Given the description of an element on the screen output the (x, y) to click on. 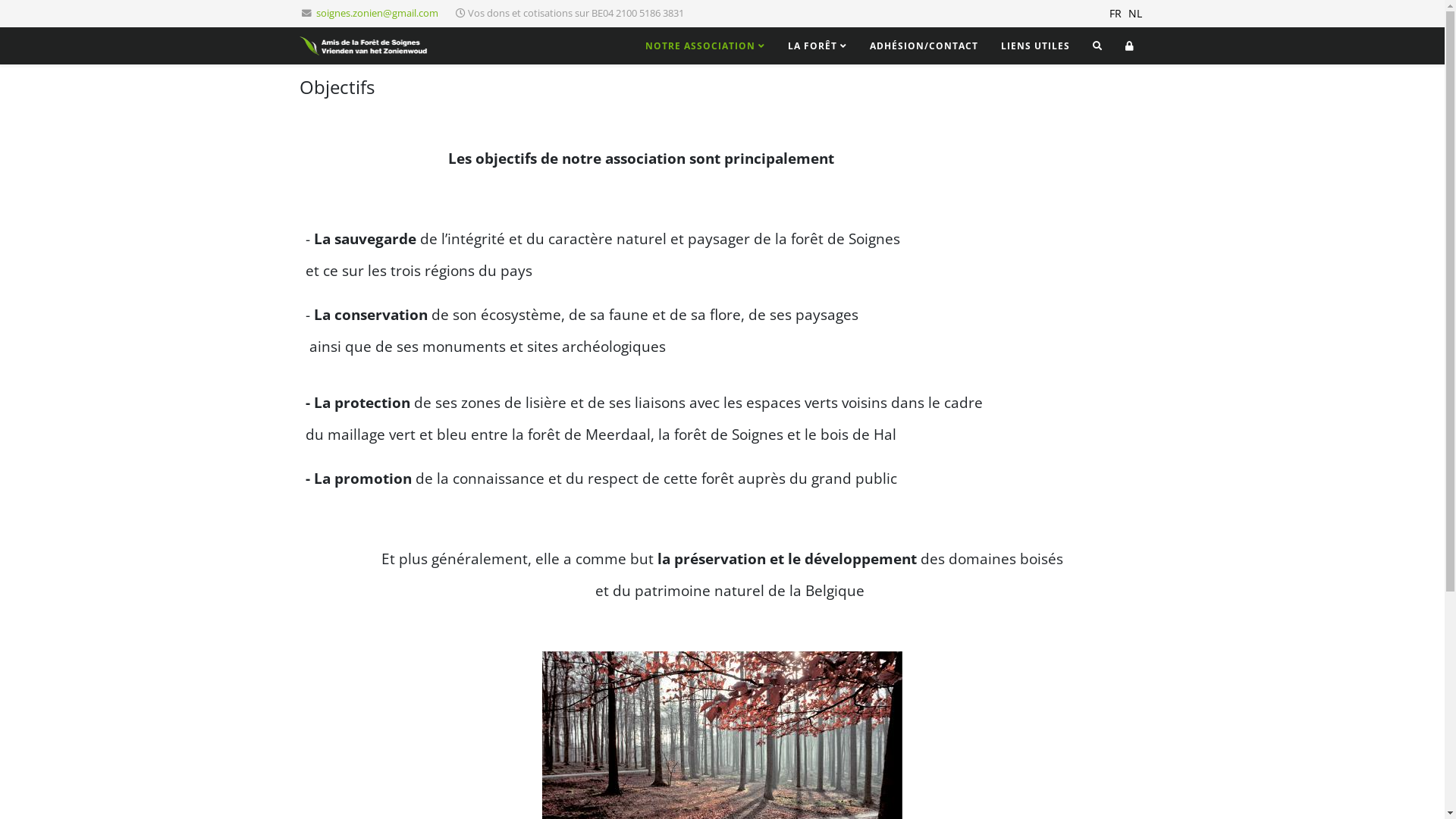
NL Element type: text (1135, 13)
LIENS UTILES Element type: text (1034, 45)
NOTRE ASSOCIATION Element type: text (704, 45)
soignes.zonien@gmail.com Element type: text (376, 12)
FR Element type: text (1114, 13)
